Given the description of an element on the screen output the (x, y) to click on. 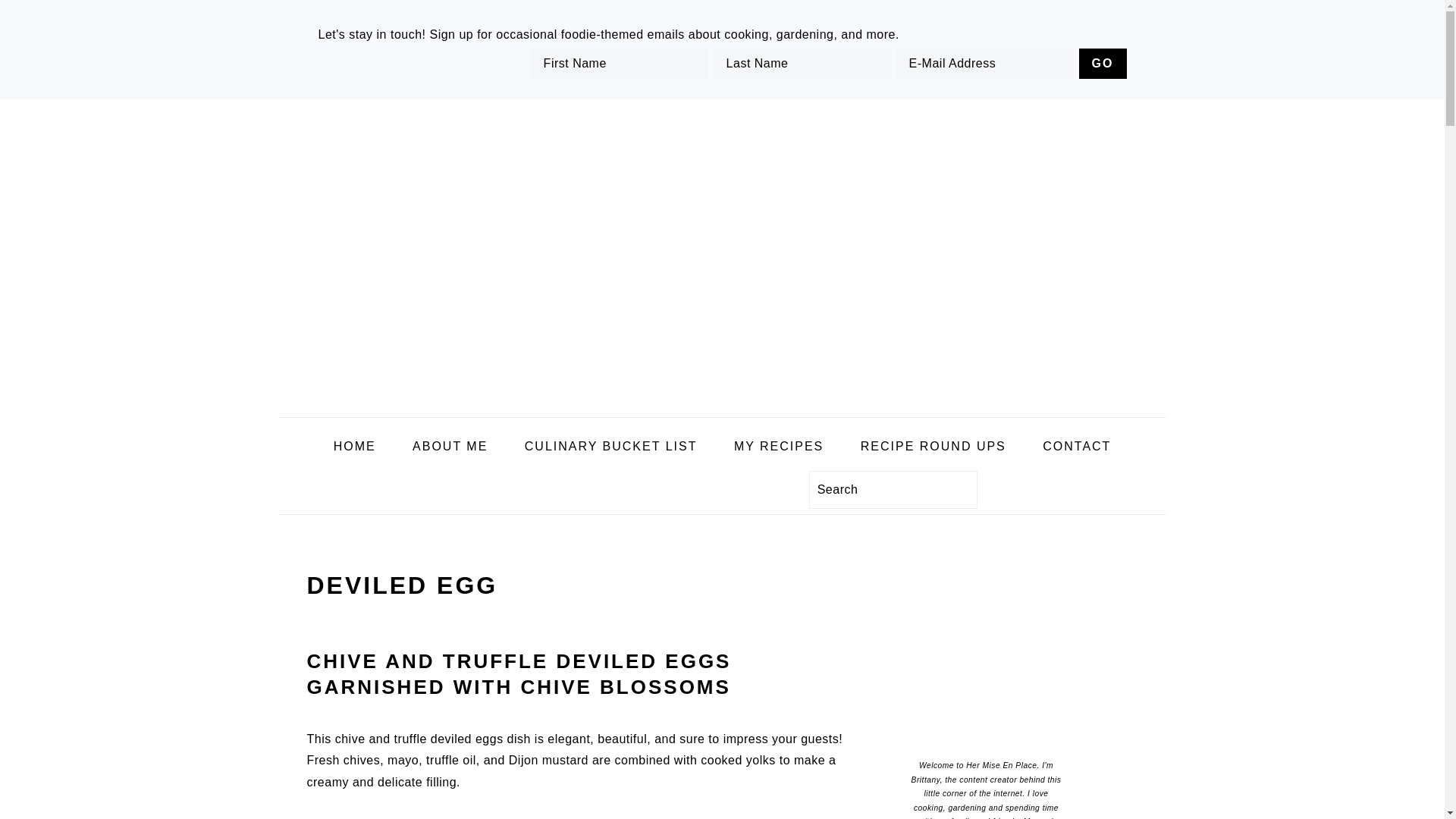
RECIPE ROUND UPS (933, 446)
CONTACT (1076, 446)
Instagram (520, 555)
Go (1102, 63)
Her Mise En Place (722, 404)
MY RECIPES (778, 446)
Pinterest (548, 555)
